Given the description of an element on the screen output the (x, y) to click on. 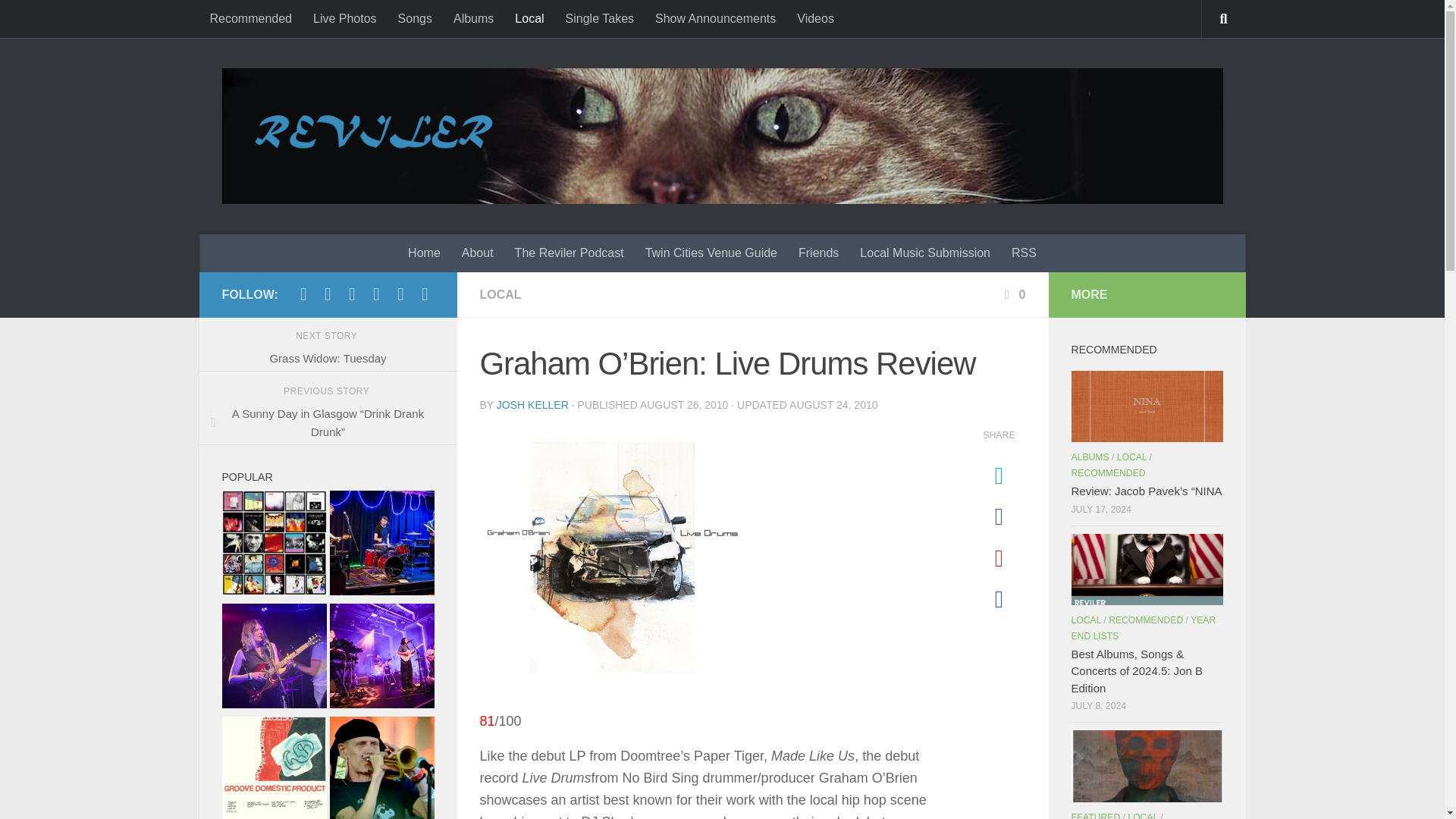
Single Takes (599, 18)
3858799216-1 (611, 557)
Twin Cities Venue Guide (710, 252)
Local Music Submission (924, 252)
Videos (815, 18)
Posts by josh keller (532, 404)
Show Announcements (715, 18)
JOSH KELLER (532, 404)
RSS (1023, 252)
Local (528, 18)
Live Photos (344, 18)
Songs (414, 18)
The Reviler Podcast (568, 252)
About (477, 252)
LOCAL (500, 294)
